Given the description of an element on the screen output the (x, y) to click on. 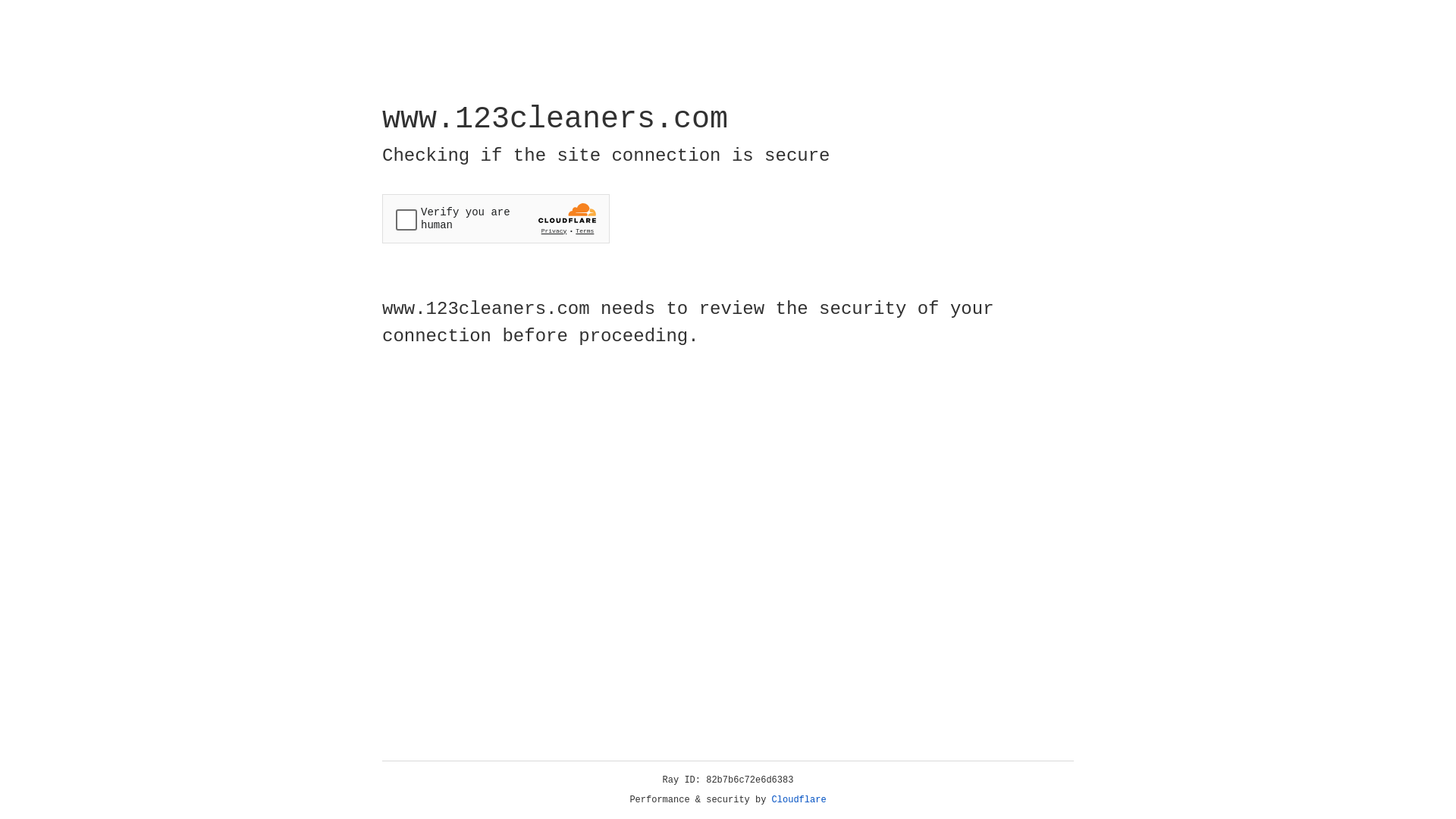
Cloudflare Element type: text (798, 799)
Widget containing a Cloudflare security challenge Element type: hover (495, 218)
